Given the description of an element on the screen output the (x, y) to click on. 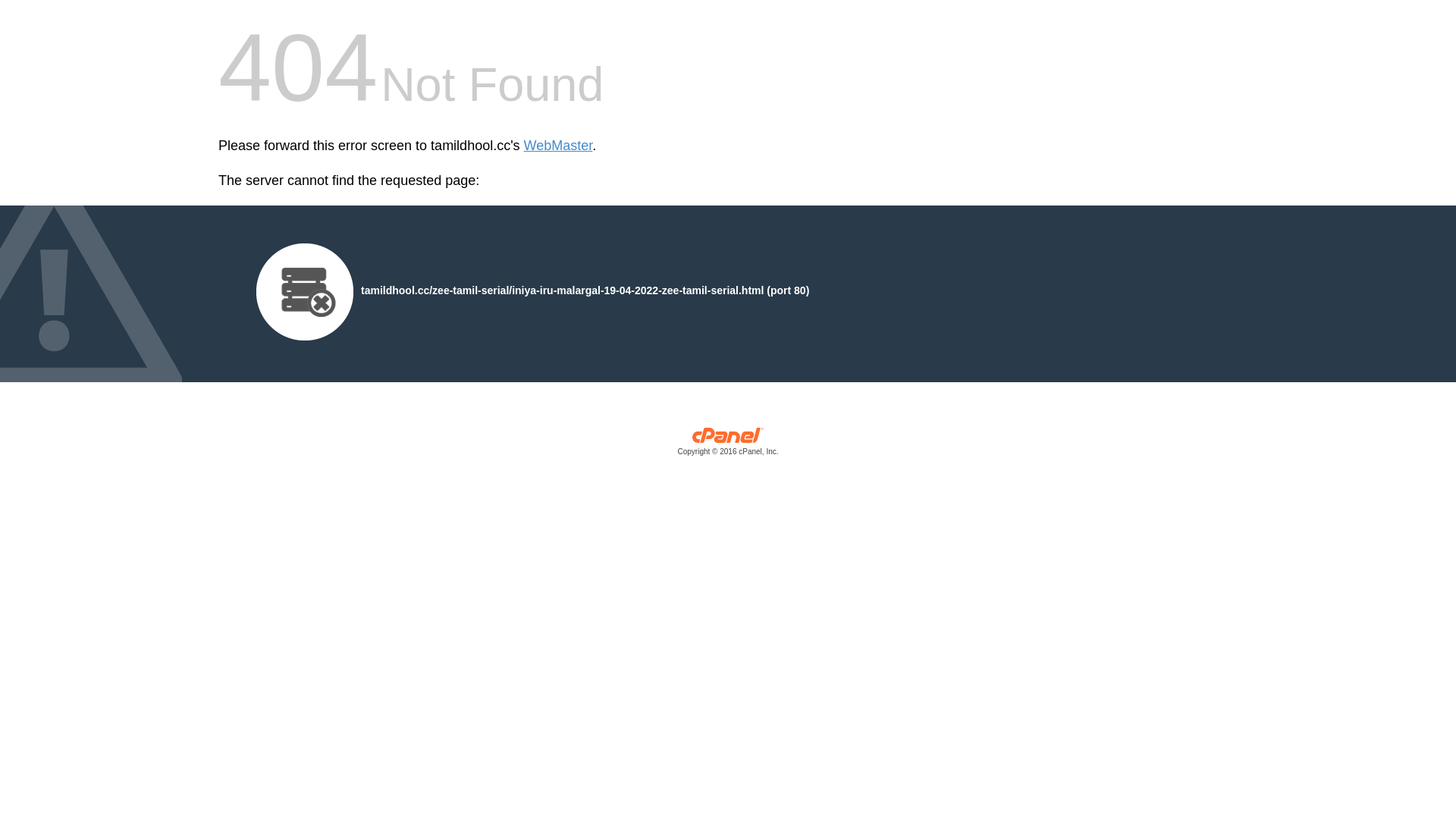
WebMaster Element type: text (558, 145)
